Given the description of an element on the screen output the (x, y) to click on. 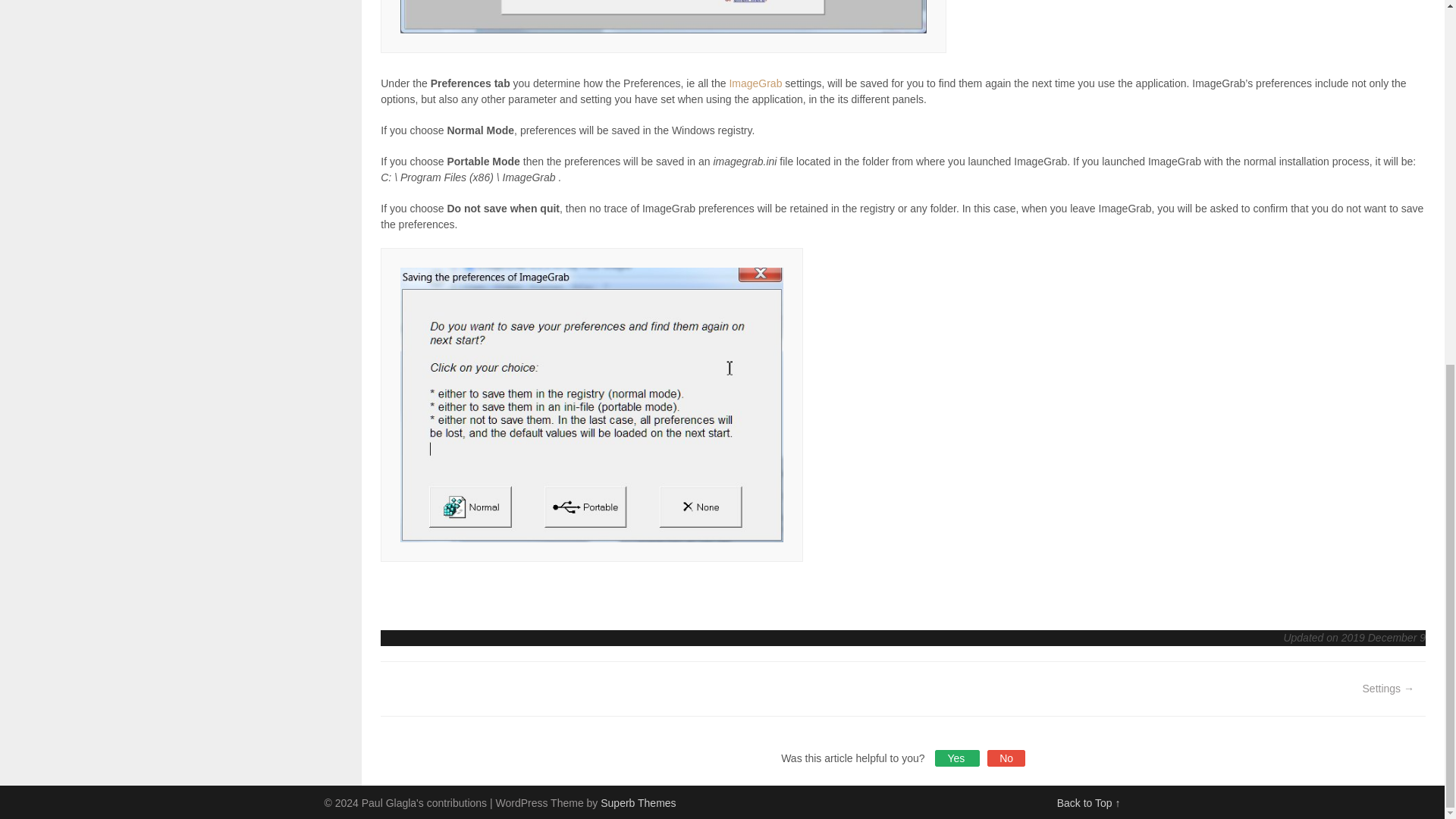
Yes (956, 758)
ImageGrab (755, 82)
No votes yet (1006, 758)
No votes yet (956, 758)
